Given the description of an element on the screen output the (x, y) to click on. 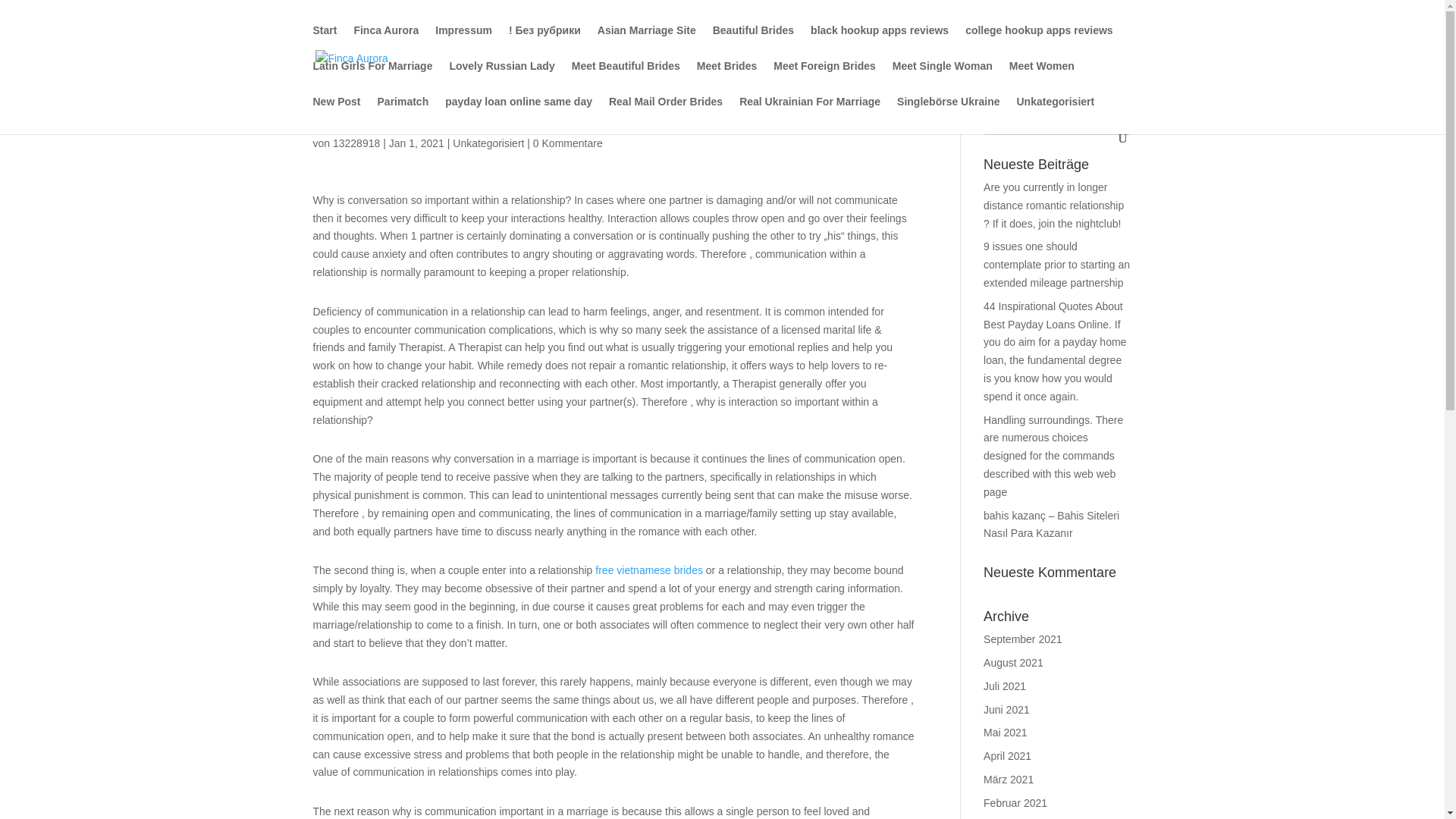
0 Kommentare (567, 143)
August 2021 (1013, 662)
Real Ukrainian For Marriage (809, 113)
Meet Foreign Brides (824, 78)
Meet Women (1041, 78)
Suche (1107, 119)
Impressum (463, 42)
Meet Brides (727, 78)
